Given the description of an element on the screen output the (x, y) to click on. 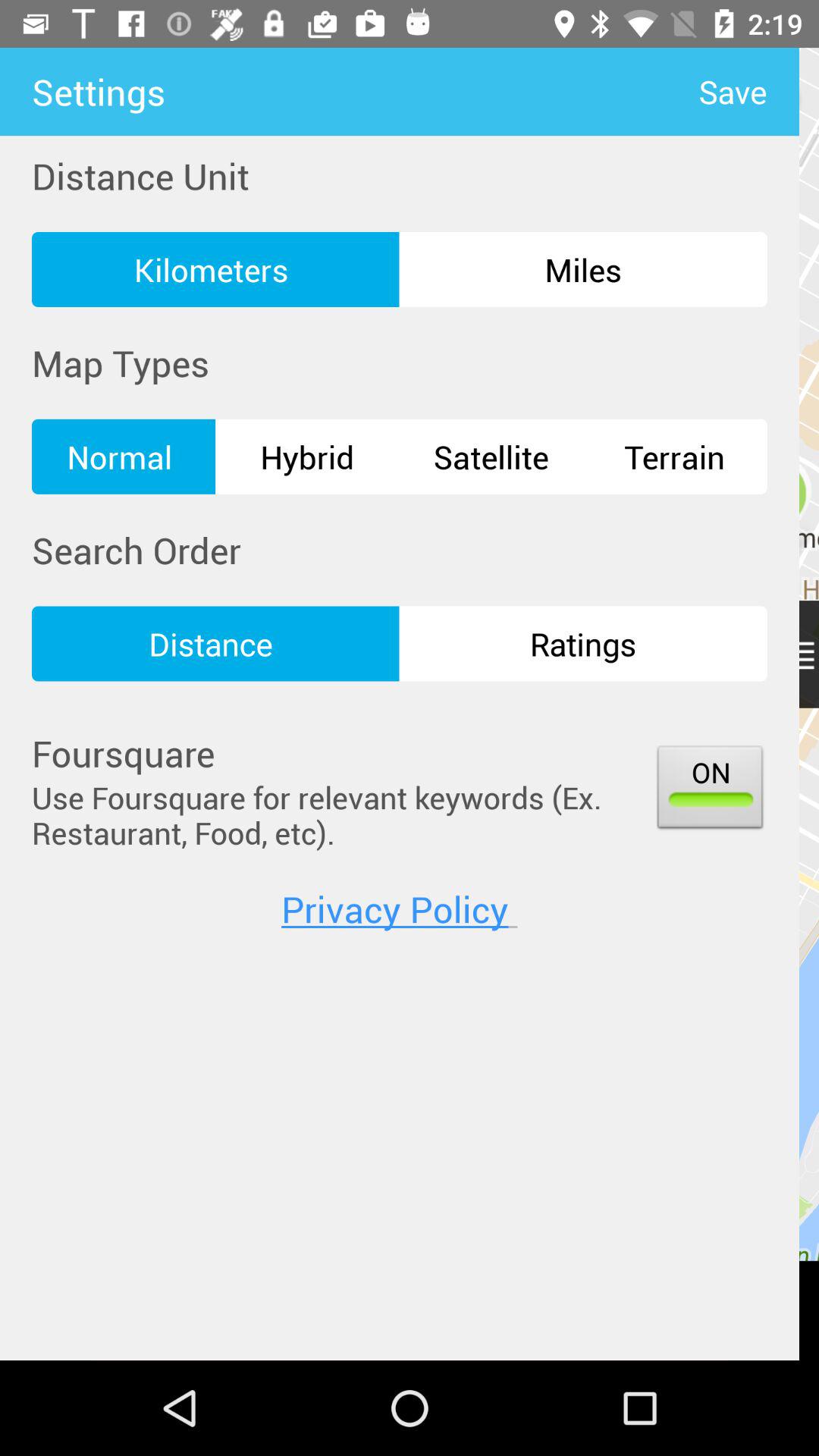
tap the item above distance (490, 456)
